Given the description of an element on the screen output the (x, y) to click on. 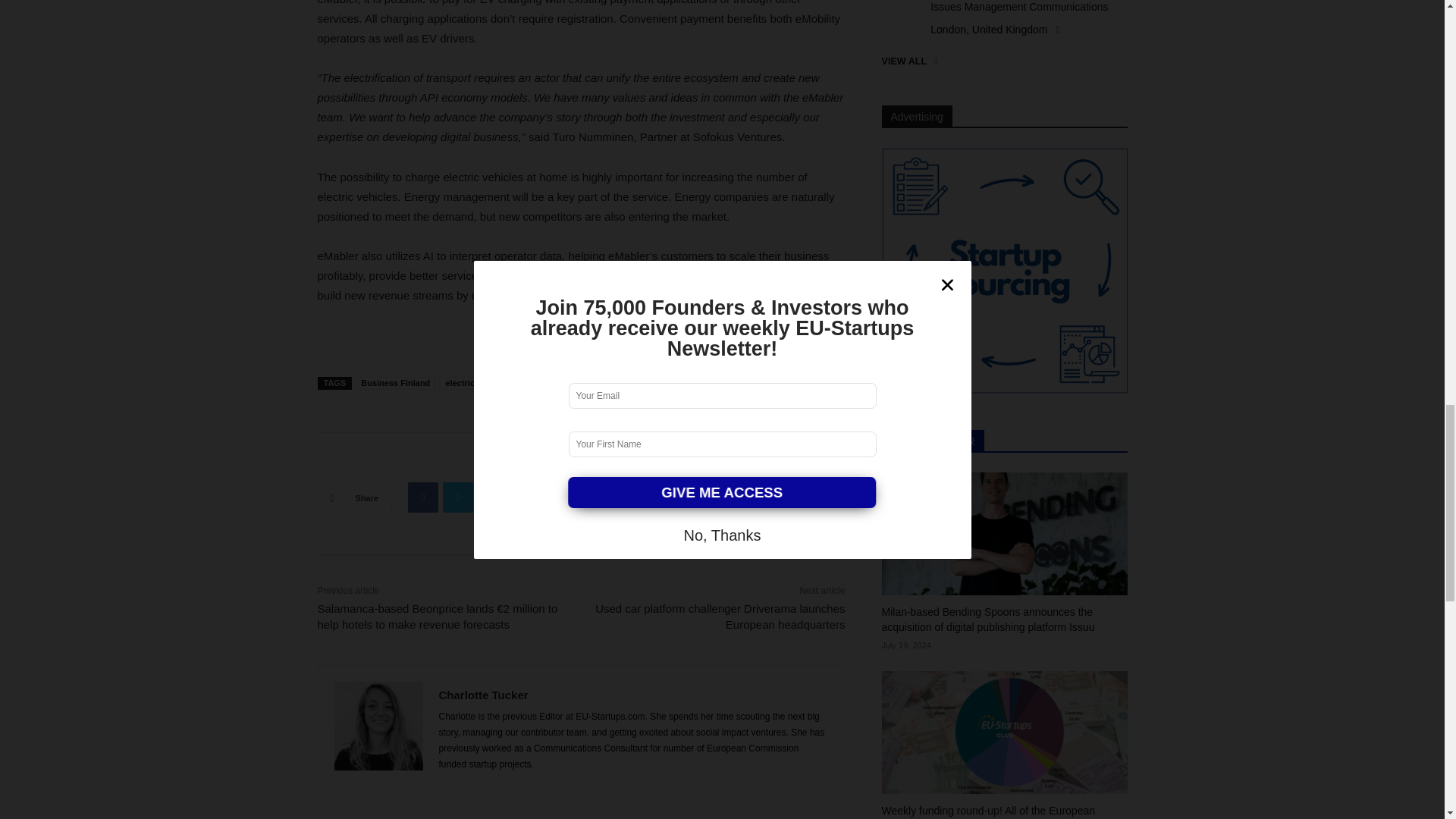
Share article (356, 463)
Facebook (422, 497)
Twitter (457, 497)
